Given the description of an element on the screen output the (x, y) to click on. 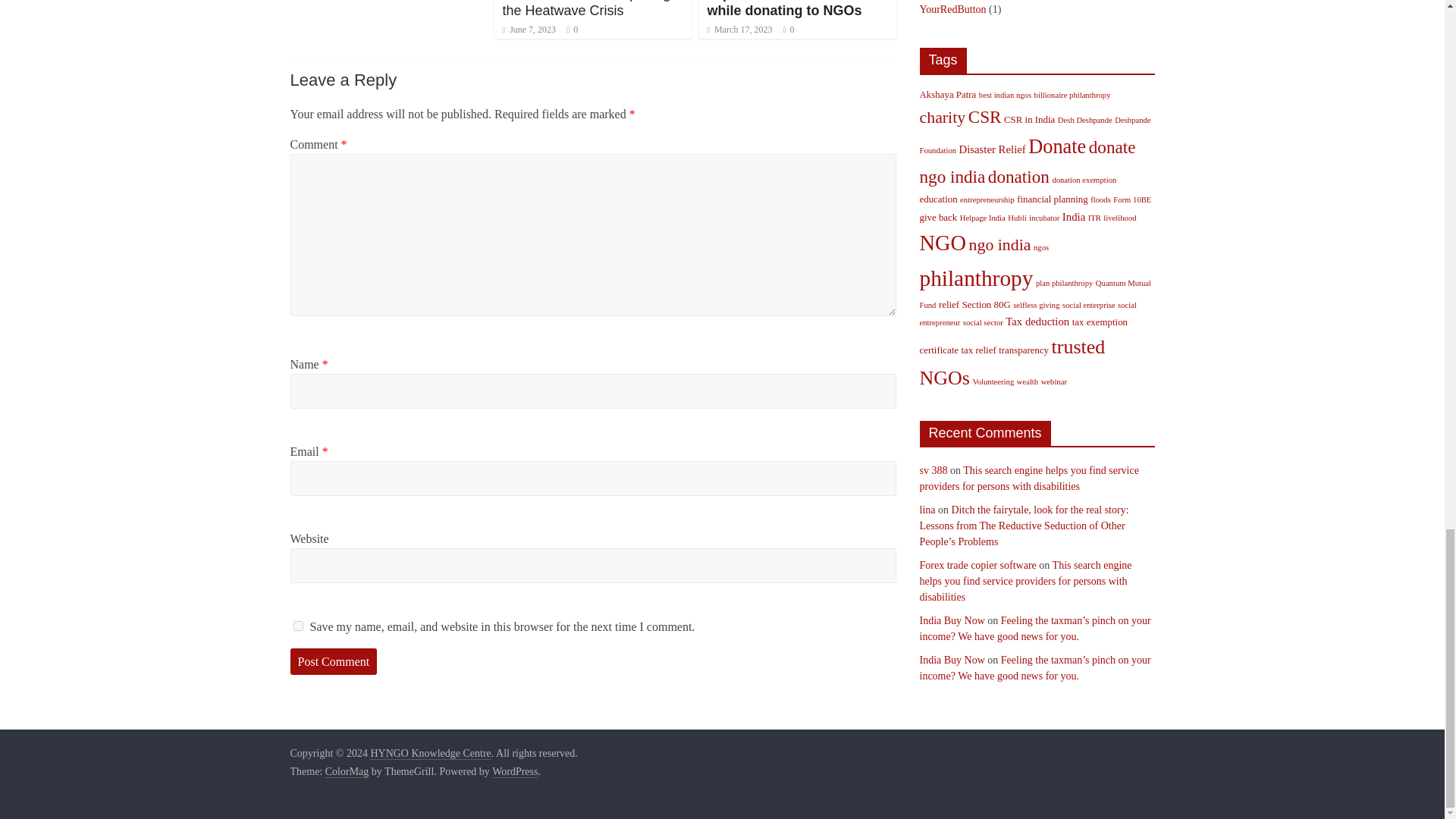
Post Comment (333, 661)
Post Comment (333, 661)
March 17, 2023 (738, 29)
Top 5 mistakes to avoid while donating to NGOs (783, 9)
Hotter Than Ever: Exploring the Heatwave Crisis (585, 9)
Hotter Than Ever: Exploring the Heatwave Crisis (585, 9)
3:00 pm (529, 29)
yes (297, 625)
June 7, 2023 (529, 29)
